Given the description of an element on the screen output the (x, y) to click on. 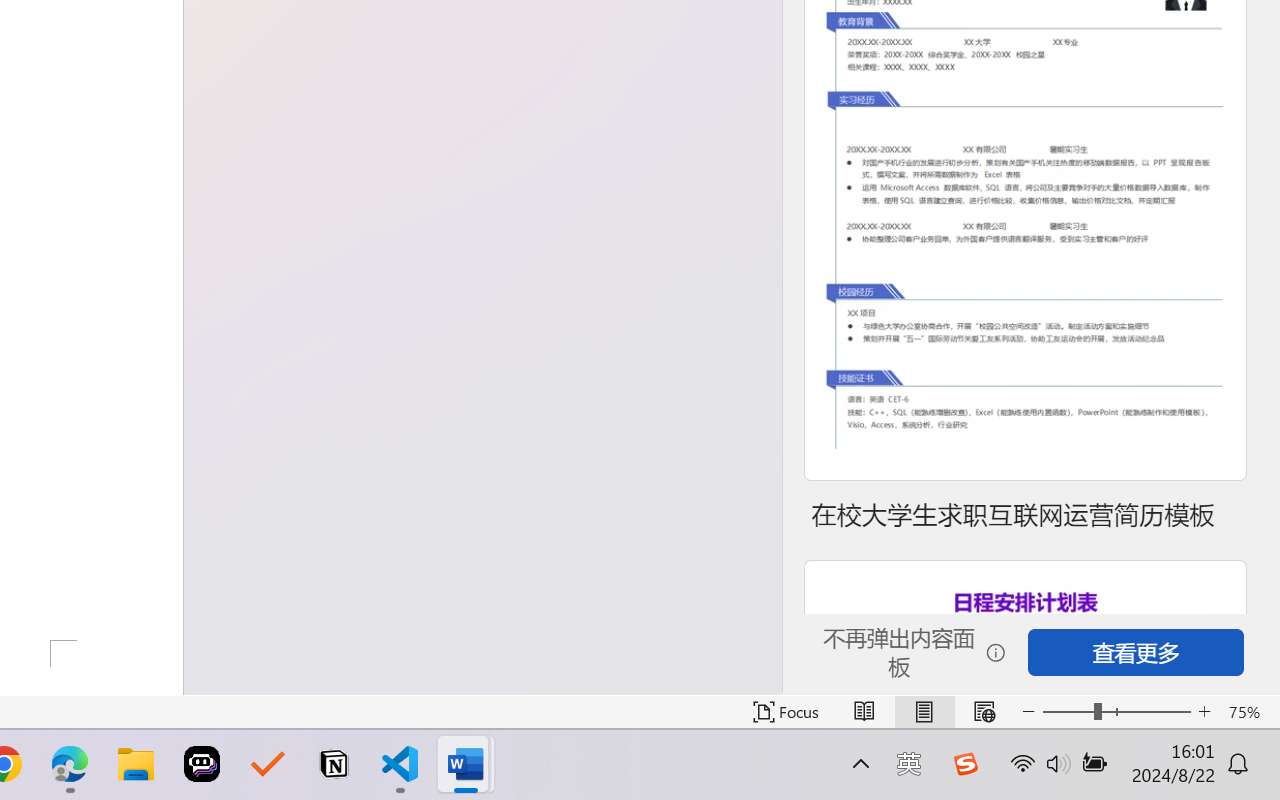
Class: Image (965, 764)
Zoom (1116, 712)
